Given the description of an element on the screen output the (x, y) to click on. 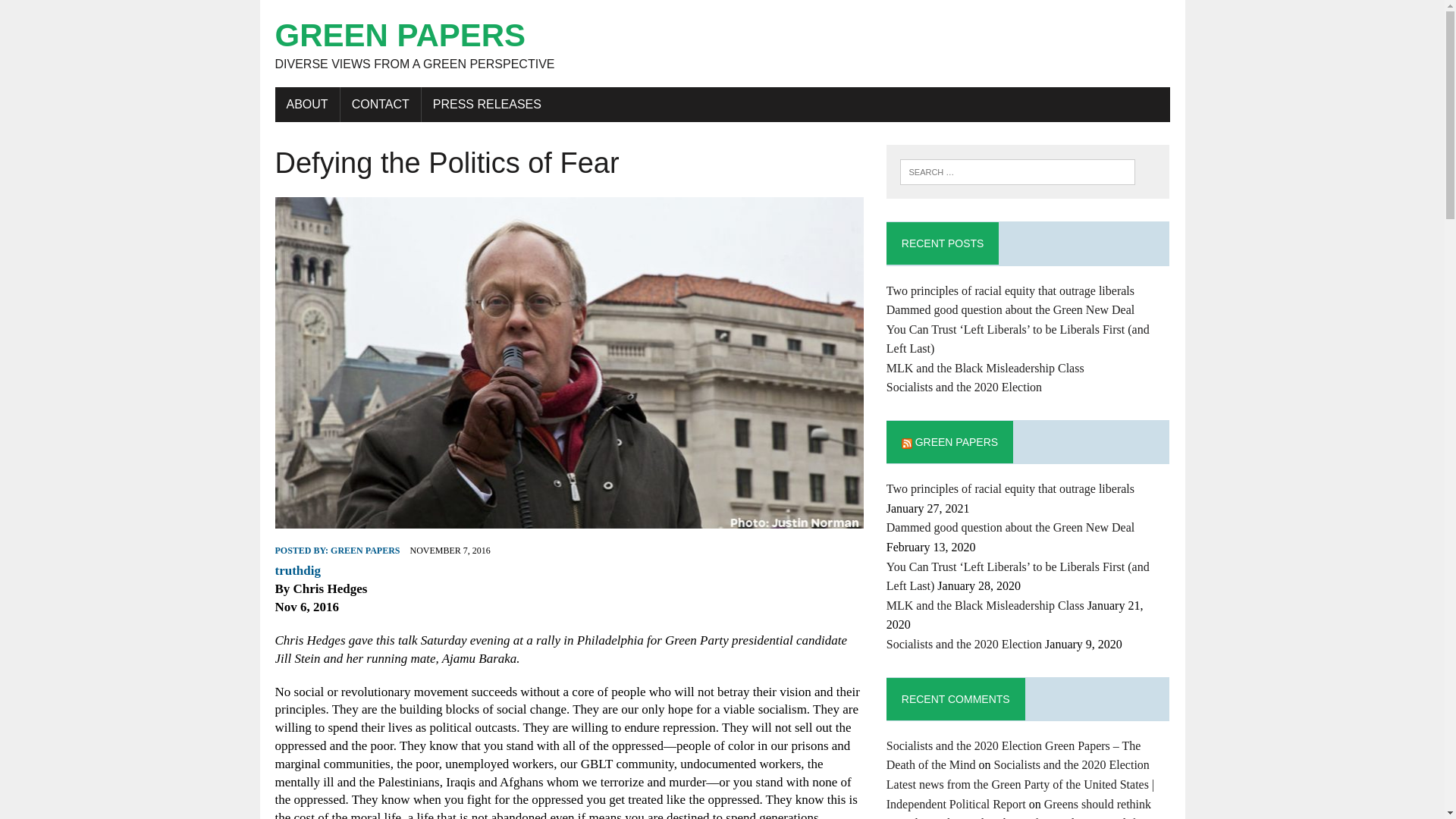
PRESS RELEASES (487, 104)
Dammed good question about the Green New Deal (1010, 526)
Two principles of racial equity that outrage liberals (1010, 488)
MLK and the Black Misleadership Class (985, 367)
truthdig (297, 570)
CONTACT (380, 104)
Search (75, 14)
Socialists and the 2020 Election (964, 644)
GREEN PAPERS (364, 550)
